Given the description of an element on the screen output the (x, y) to click on. 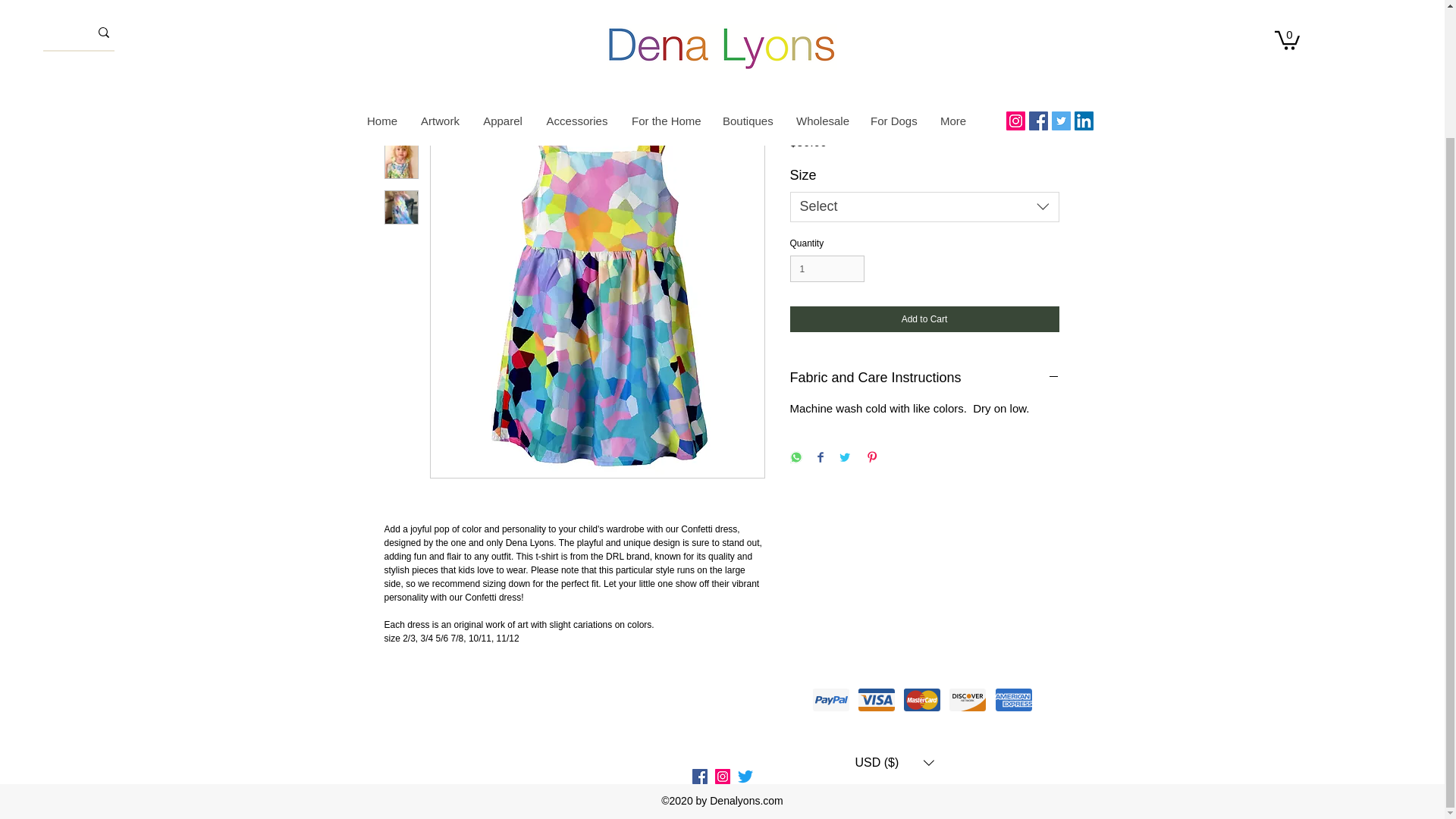
1 (827, 268)
